Given the description of an element on the screen output the (x, y) to click on. 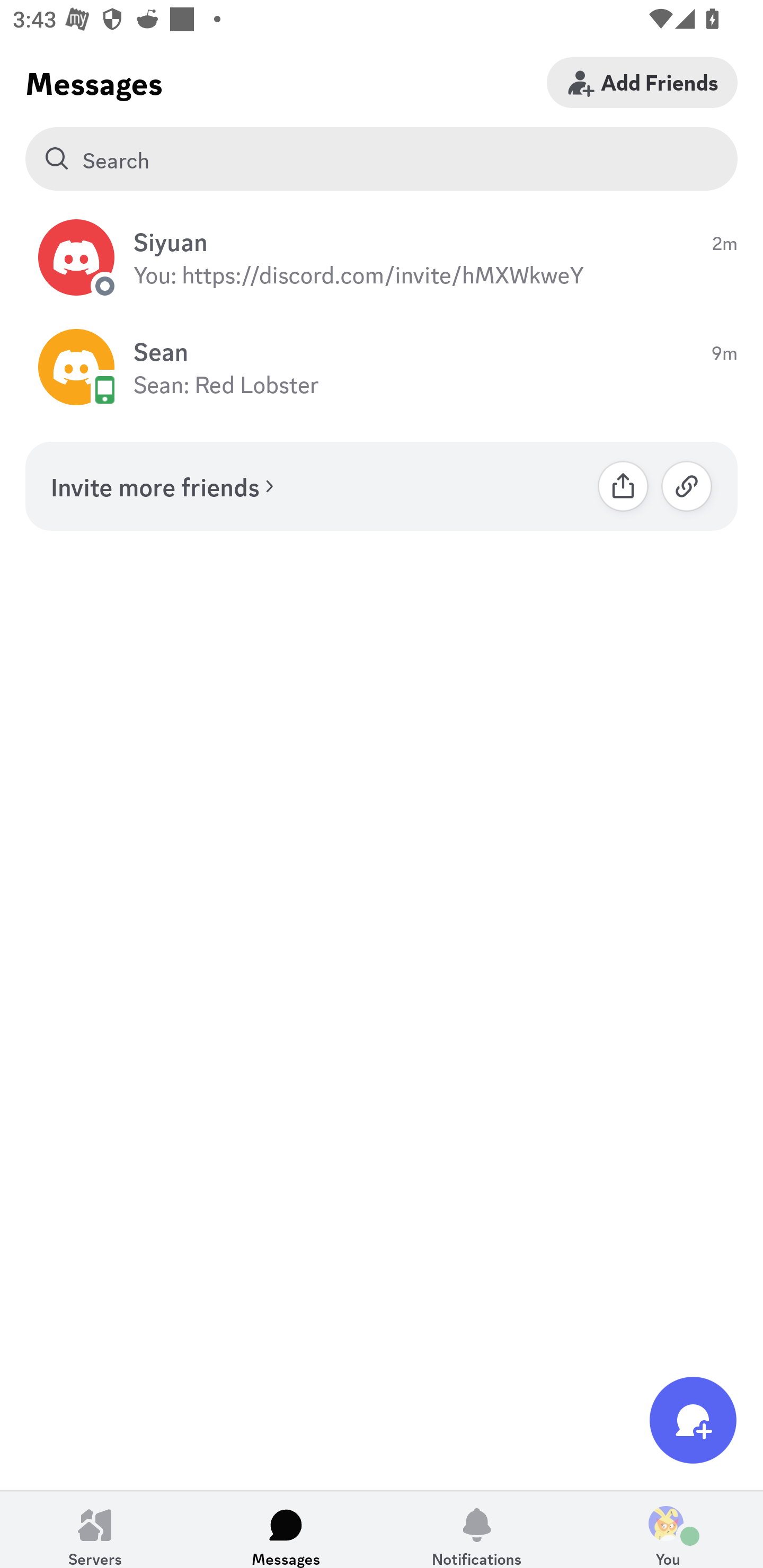
Add Friends (642, 82)
Search (381, 159)
Sean (direct message) Sean 9m Sean: Red Lobster (381, 367)
Share Link (622, 485)
Copy Link (686, 485)
New Message (692, 1419)
Servers (95, 1529)
Messages (285, 1529)
Notifications (476, 1529)
You (667, 1529)
